Given the description of an element on the screen output the (x, y) to click on. 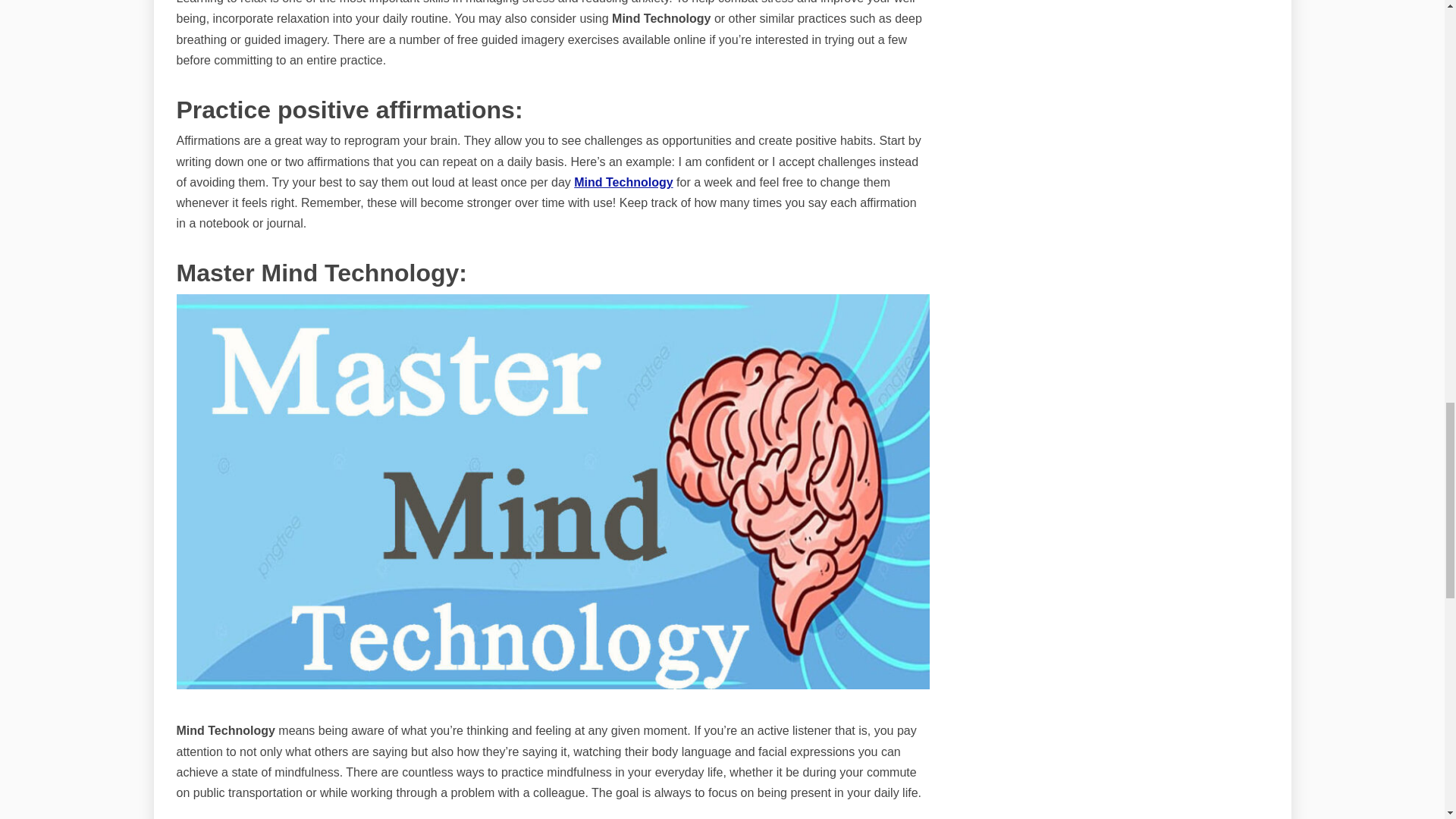
Mind Technology (622, 182)
